Given the description of an element on the screen output the (x, y) to click on. 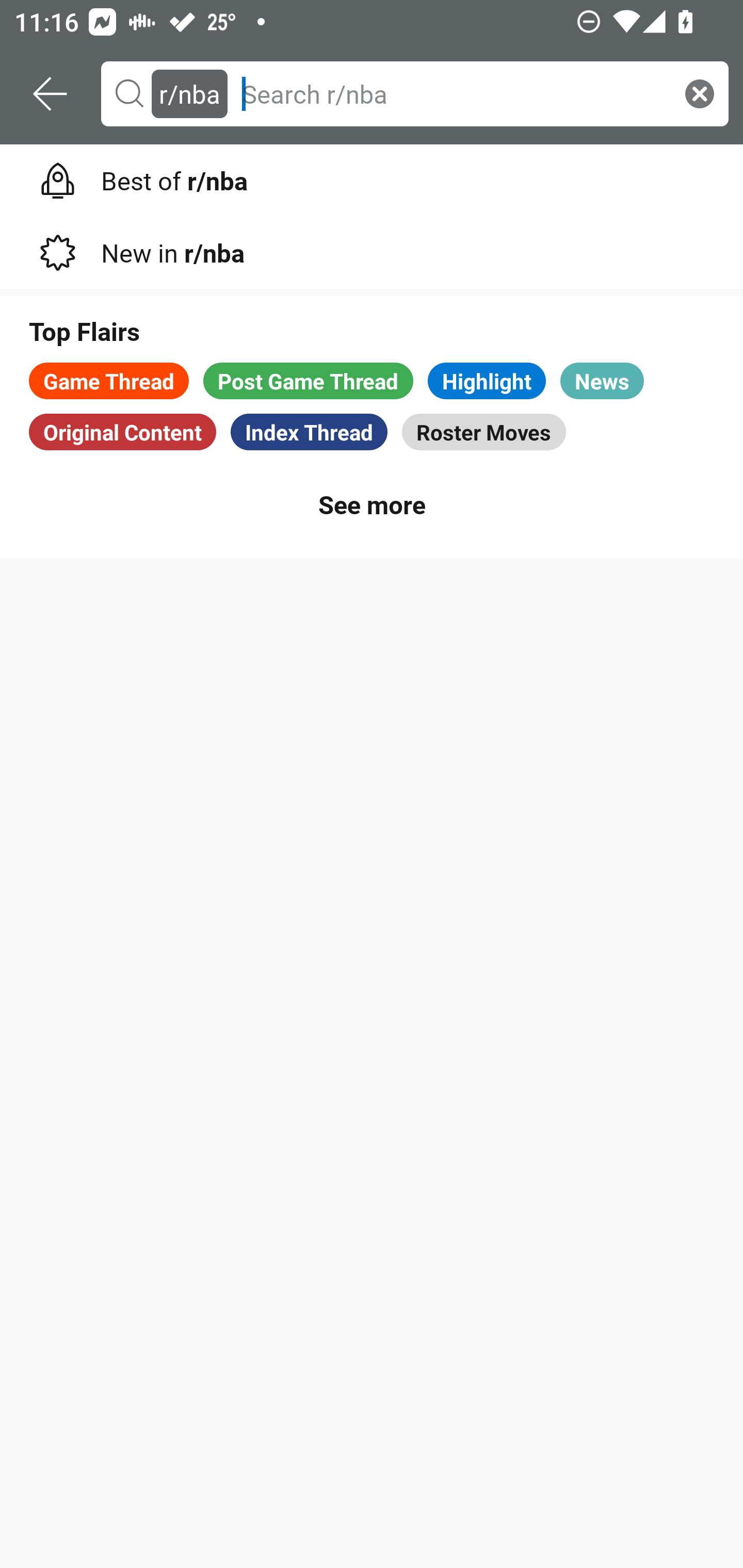
Back (50, 93)
Search r/nba (452, 93)
Clear search (699, 93)
r/nba (189, 92)
Best of  r/nba (371, 177)
New in  r/nba (371, 249)
See more (371, 503)
